Given the description of an element on the screen output the (x, y) to click on. 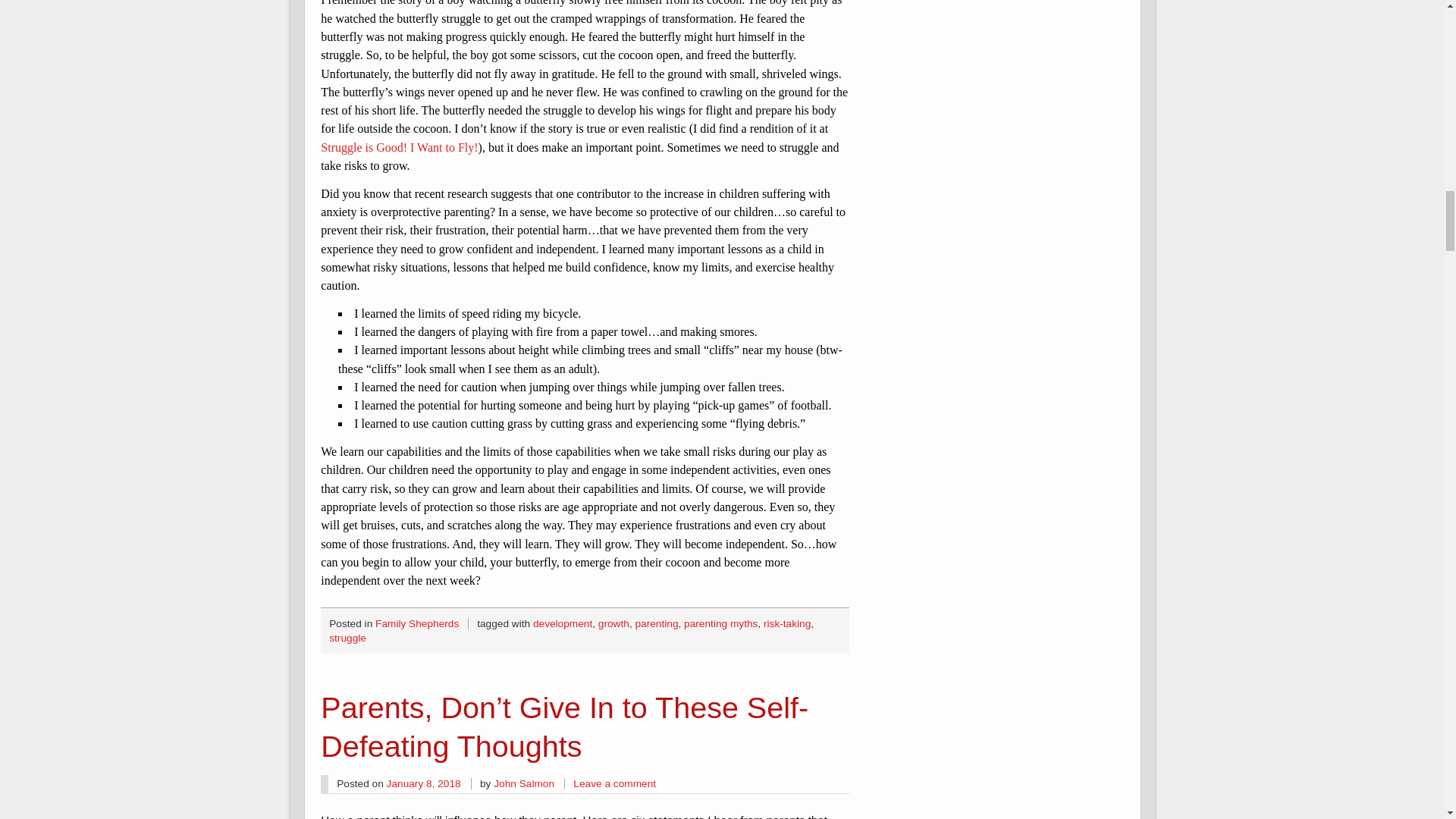
6:00 pm (424, 783)
View all posts by John Salmon (523, 783)
